Given the description of an element on the screen output the (x, y) to click on. 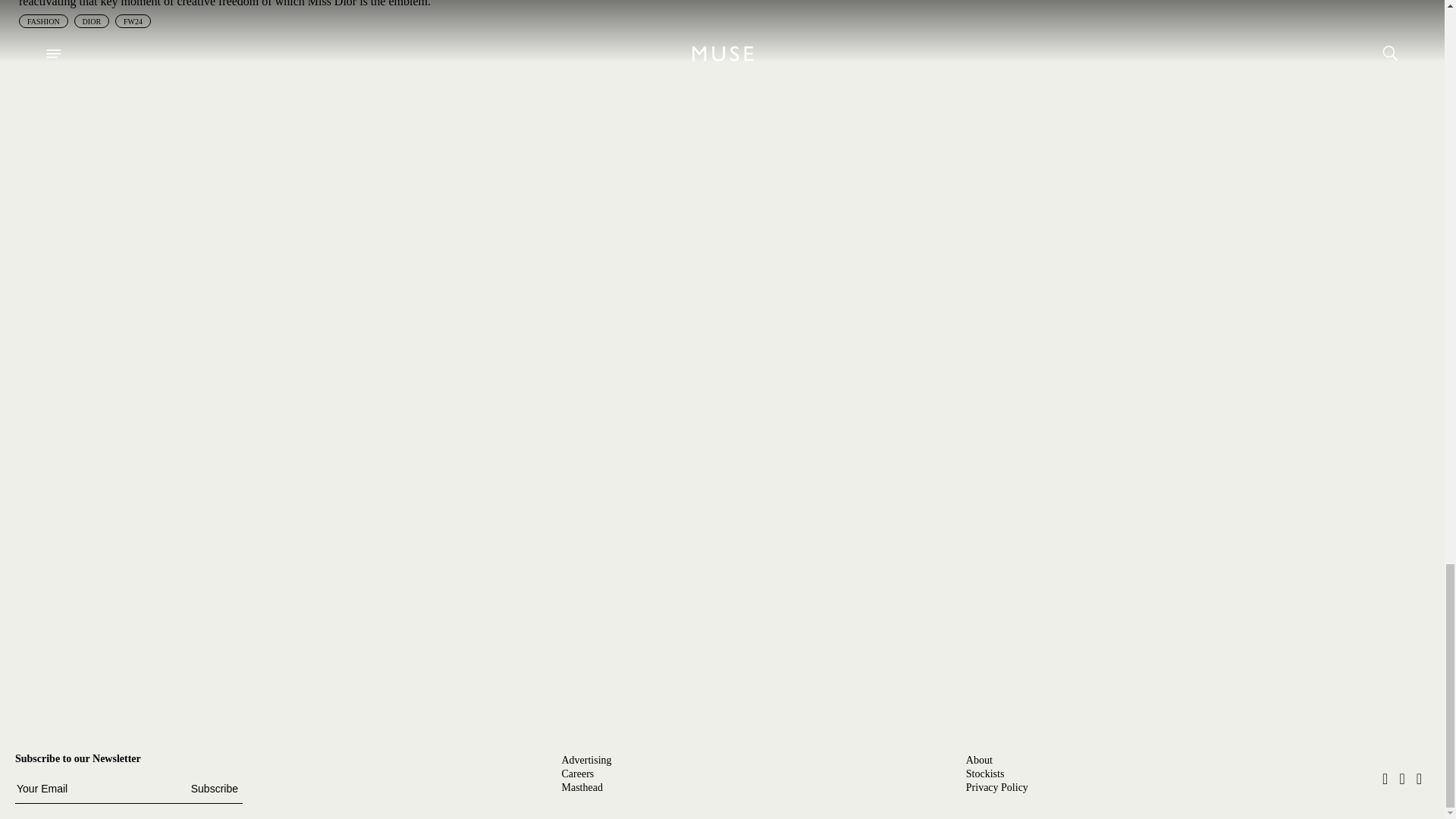
FASHION (43, 20)
DIOR (91, 20)
FW24 (133, 20)
Subscribe (214, 788)
